Given the description of an element on the screen output the (x, y) to click on. 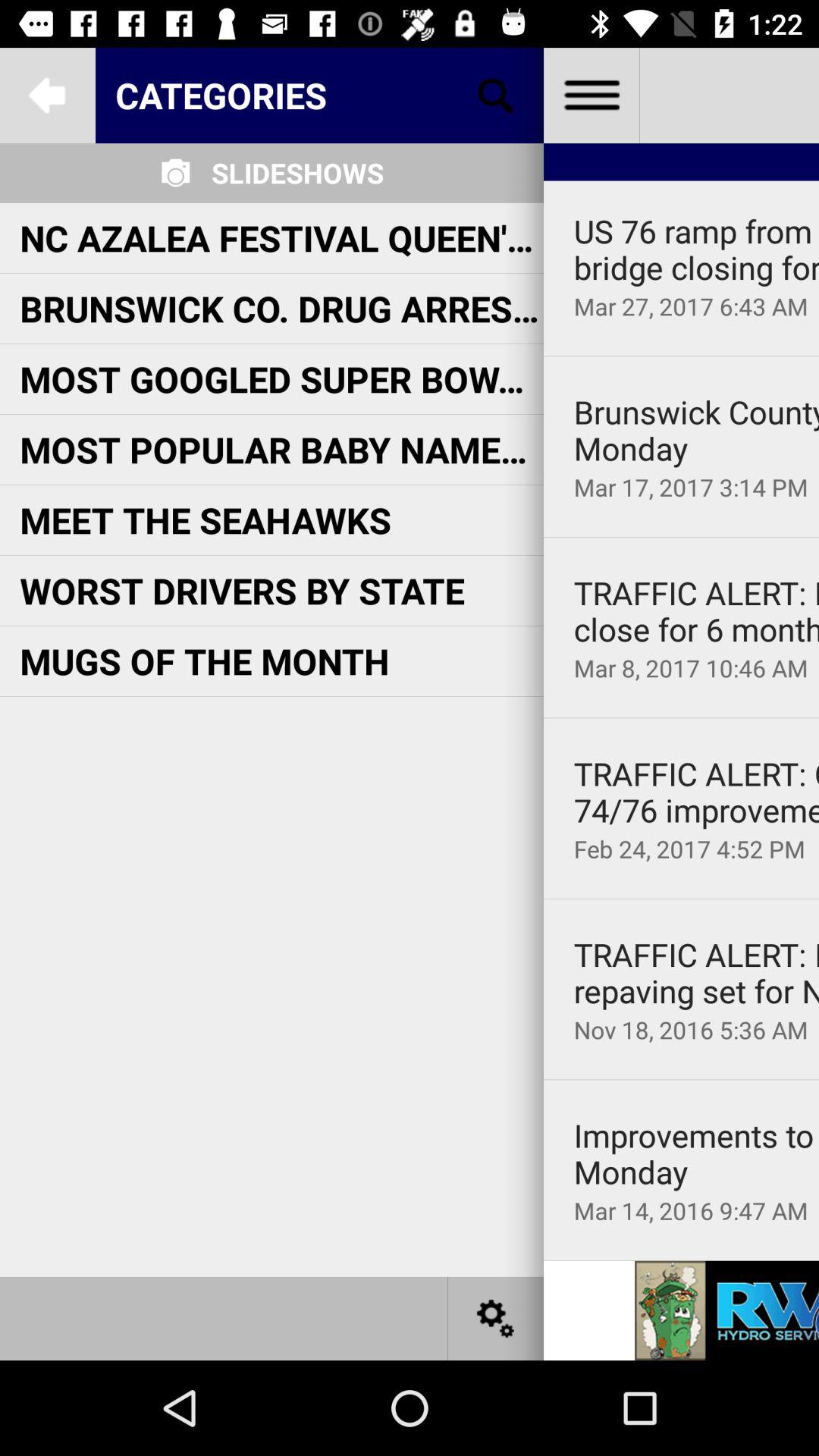
click the search button on the web page (495, 95)
